Given the description of an element on the screen output the (x, y) to click on. 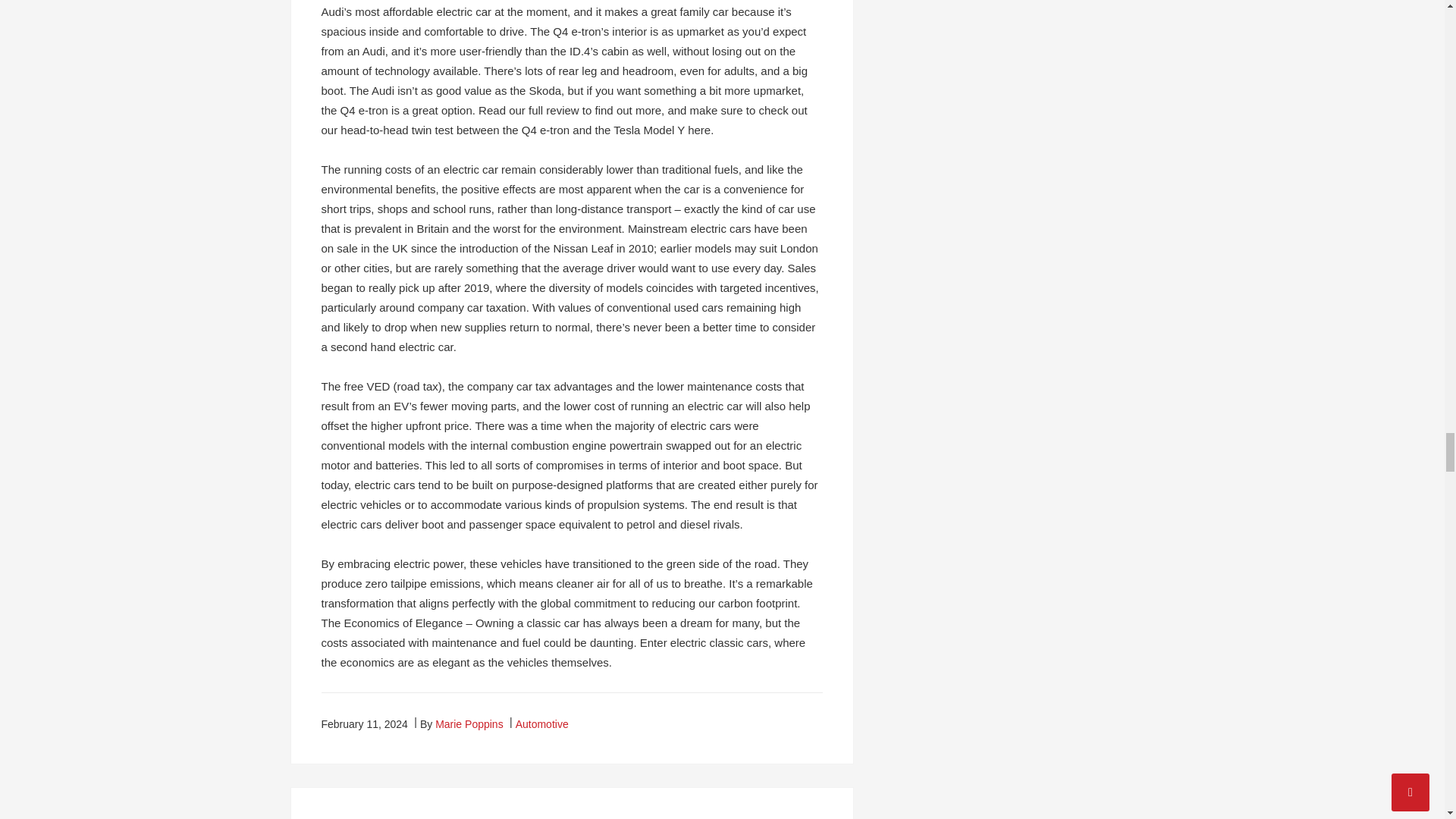
Marie Poppins (469, 724)
Automotive (542, 724)
View all posts by Marie Poppins (469, 724)
